Given the description of an element on the screen output the (x, y) to click on. 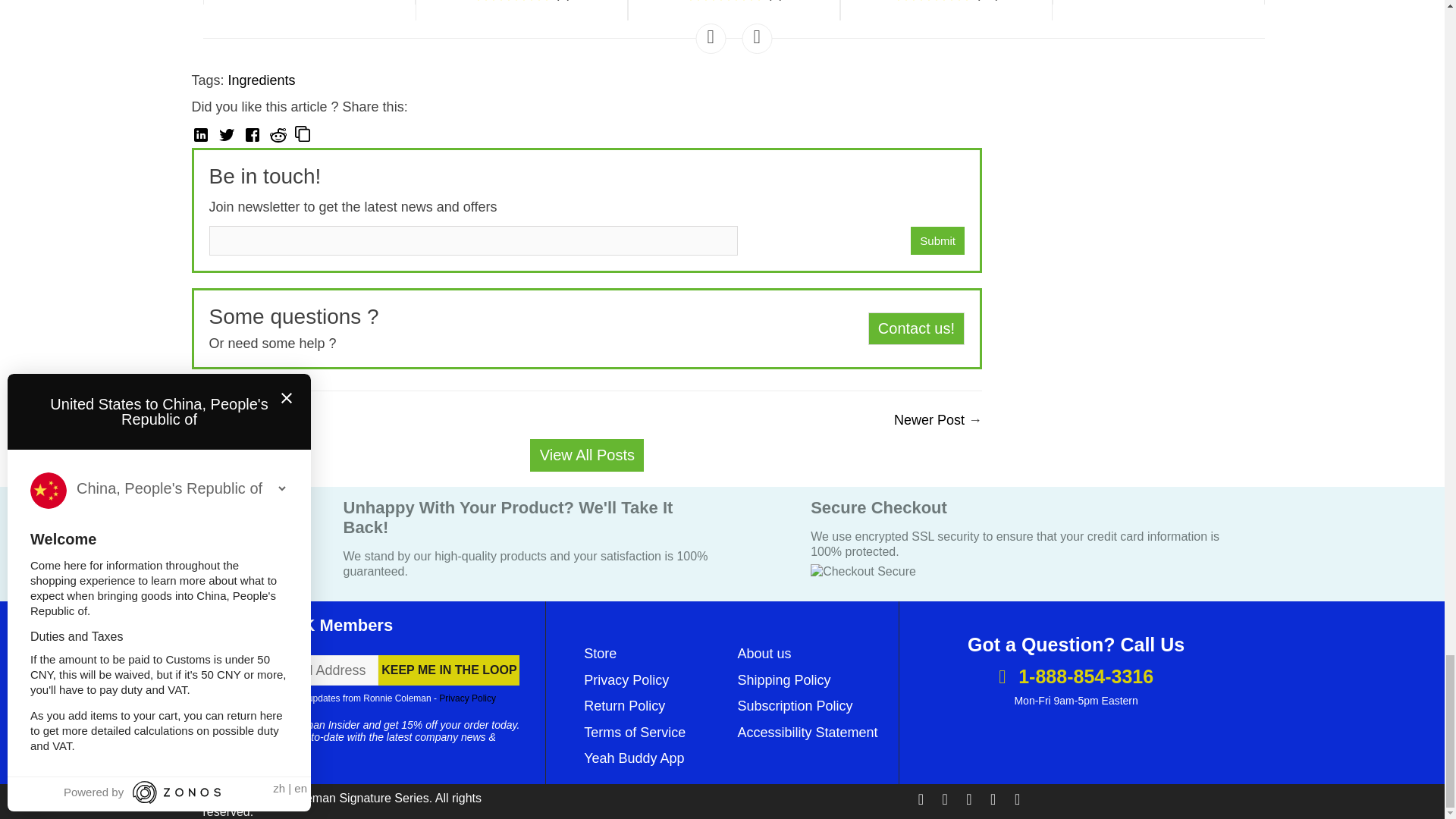
on (207, 699)
